Given the description of an element on the screen output the (x, y) to click on. 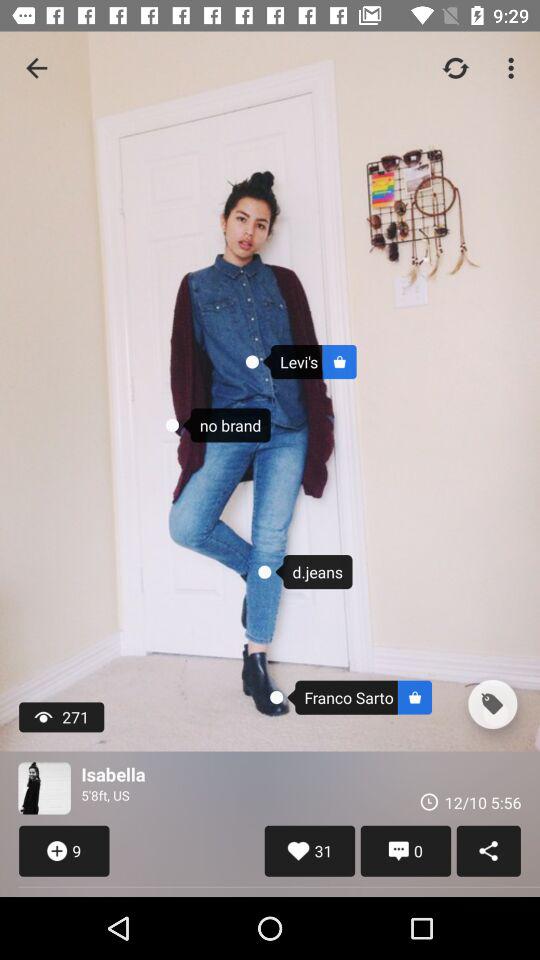
select user (44, 788)
